Given the description of an element on the screen output the (x, y) to click on. 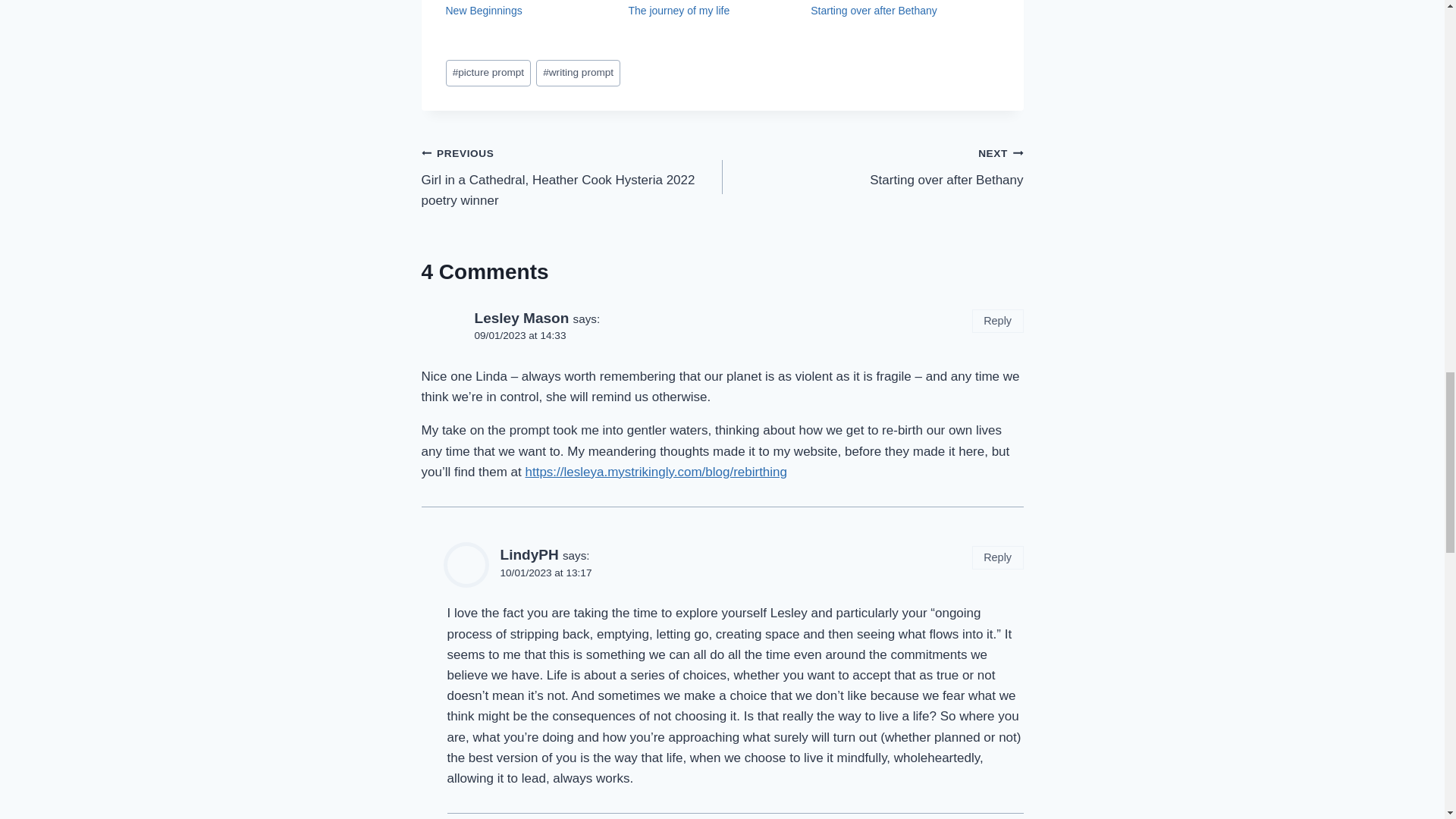
picture prompt (488, 72)
The journey of my life (678, 10)
New Beginnings (483, 10)
Starting over after Bethany (873, 10)
New Beginnings (483, 10)
The journey of my life (872, 166)
writing prompt (678, 10)
Starting over after Bethany (577, 72)
Lesley Mason (873, 10)
